Given the description of an element on the screen output the (x, y) to click on. 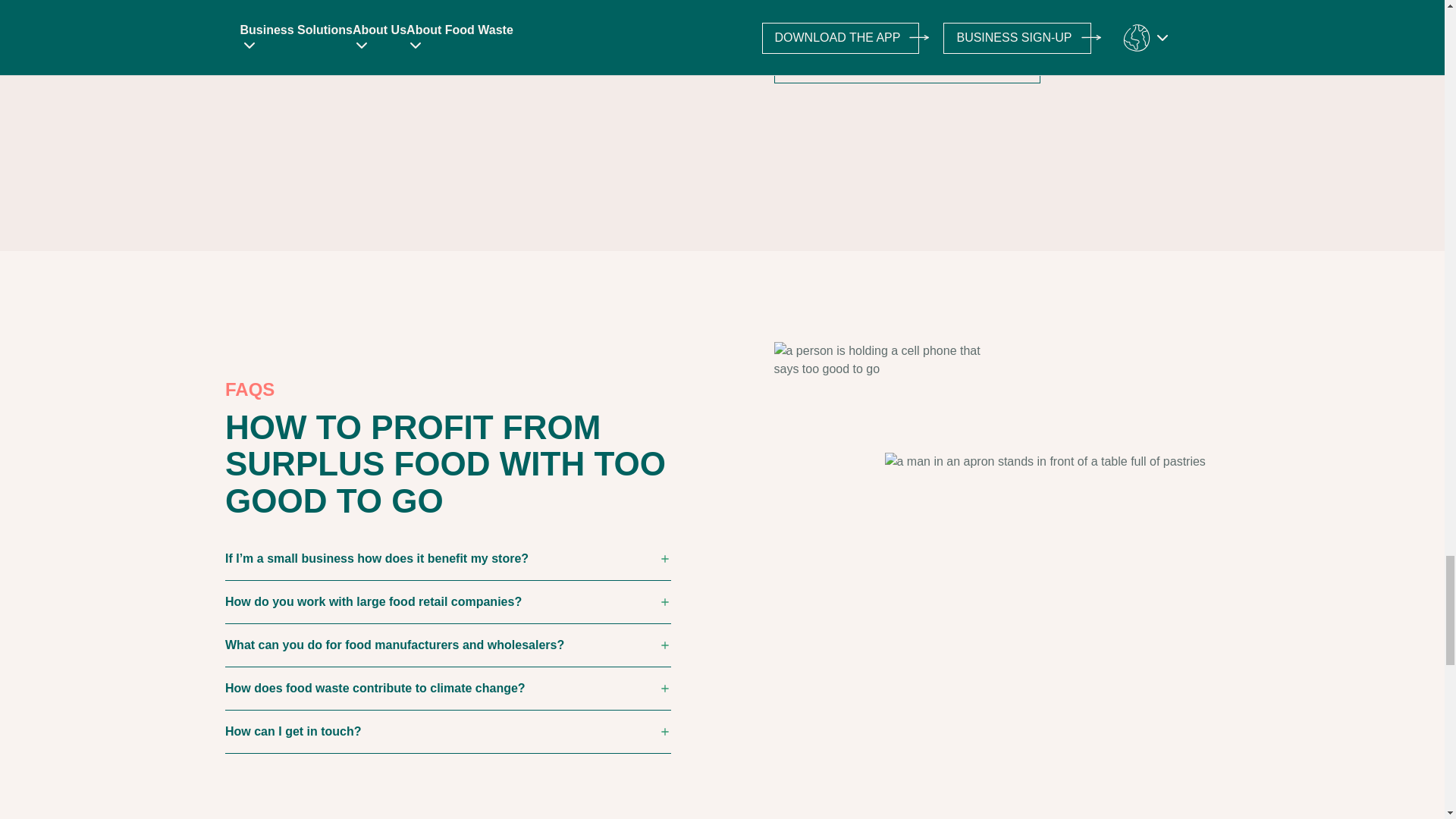
OUR LOOK-SMELL-TASTE PROGRAMME (906, 67)
